Given the description of an element on the screen output the (x, y) to click on. 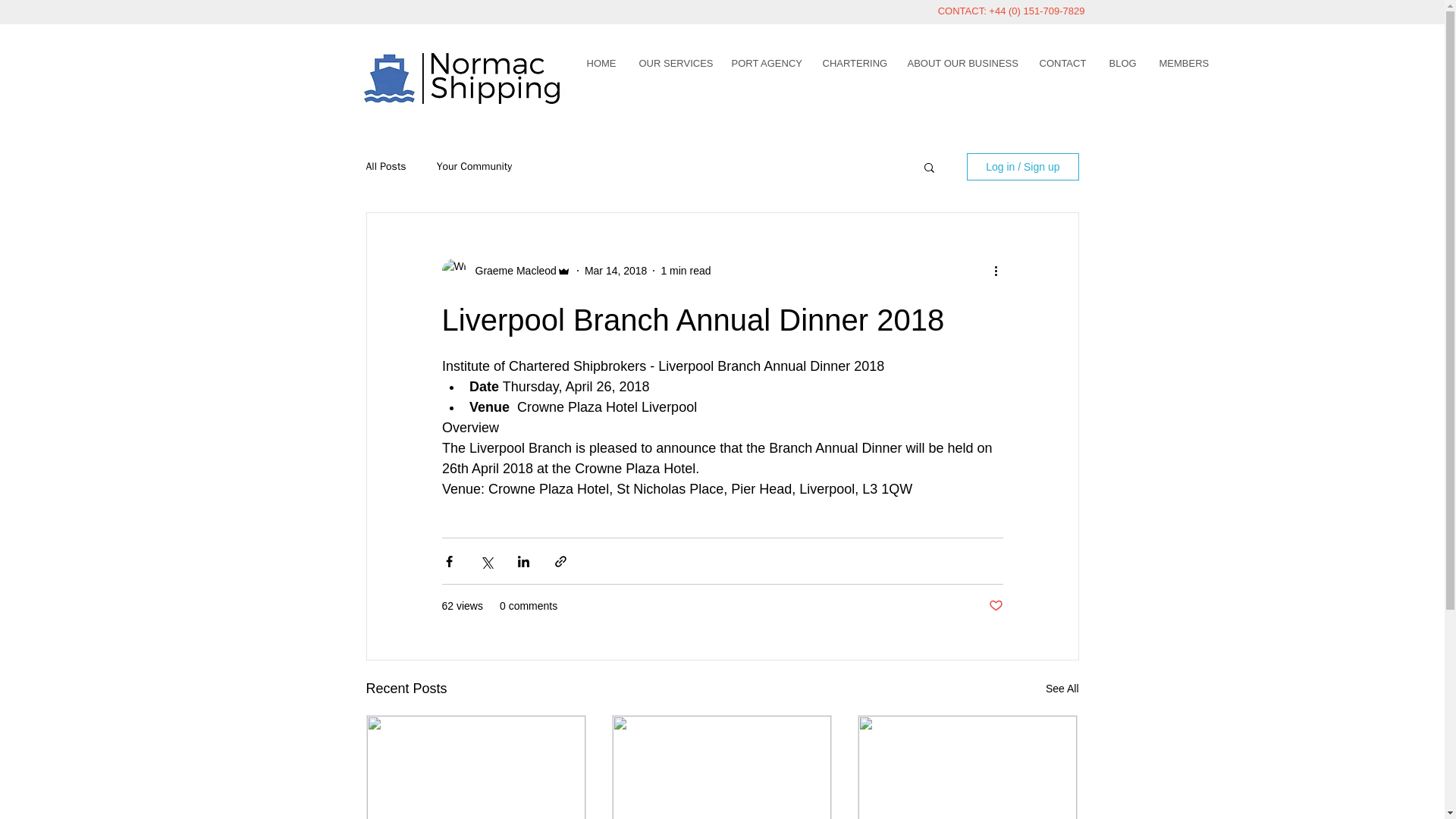
HOME (601, 62)
ABOUT OUR BUSINESS (961, 62)
Post not marked as liked (995, 606)
PORT AGENCY (765, 62)
Mar 14, 2018 (616, 269)
1 min read (685, 269)
See All (1061, 689)
Graeme Macleod (510, 270)
All Posts (385, 166)
OUR SERVICES (673, 62)
CHARTERING (853, 62)
MEMBERS (1183, 62)
Your Community (474, 166)
BLOG (1122, 62)
CONTACT (1062, 62)
